Given the description of an element on the screen output the (x, y) to click on. 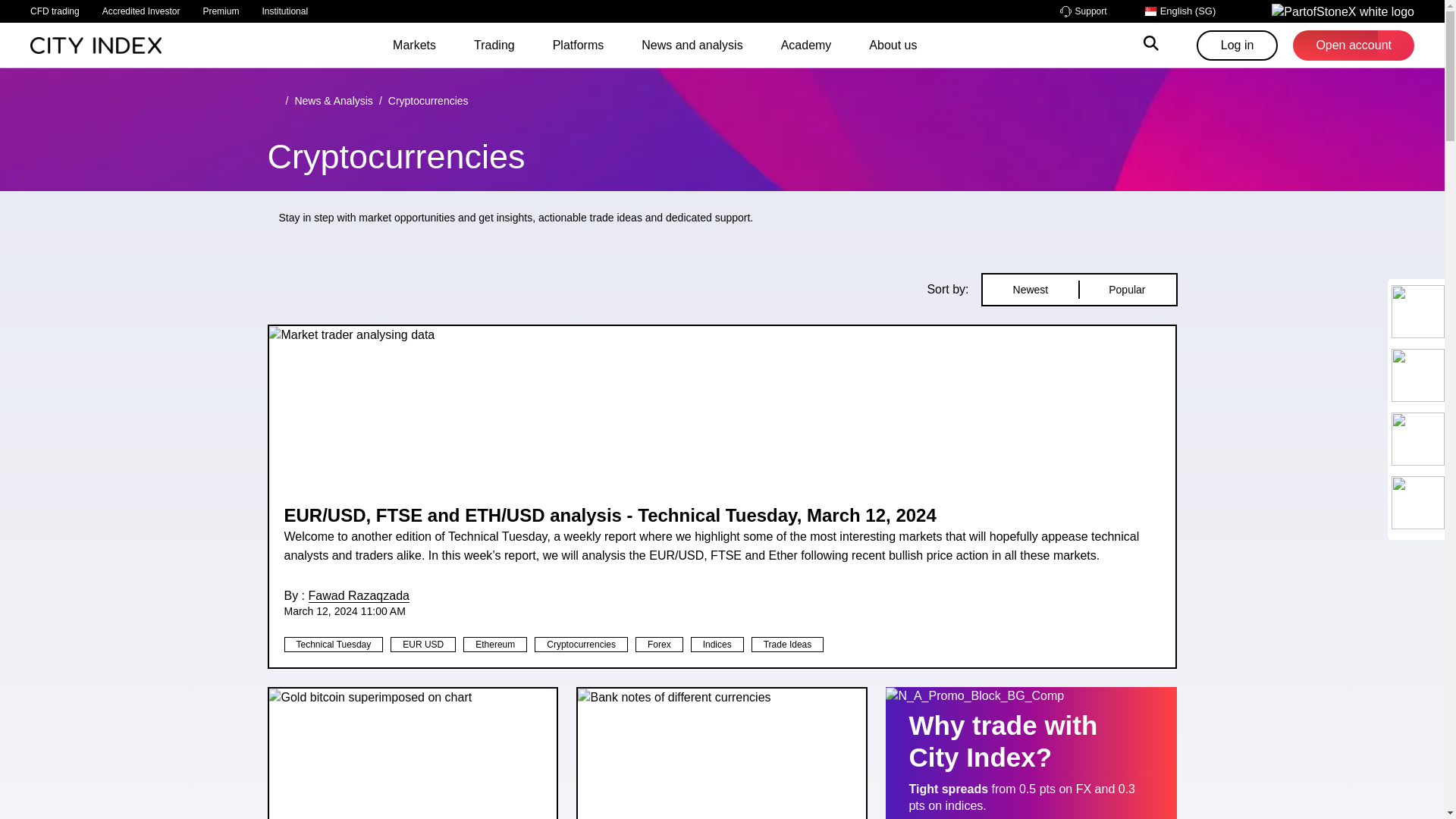
Home (95, 44)
Accredited Investor (140, 11)
Support (1082, 11)
Institutional (284, 11)
CFD trading (55, 11)
Home (273, 101)
News and Analysis (333, 101)
Premium (220, 11)
cryptocurrencies (428, 101)
search (1150, 45)
